Given the description of an element on the screen output the (x, y) to click on. 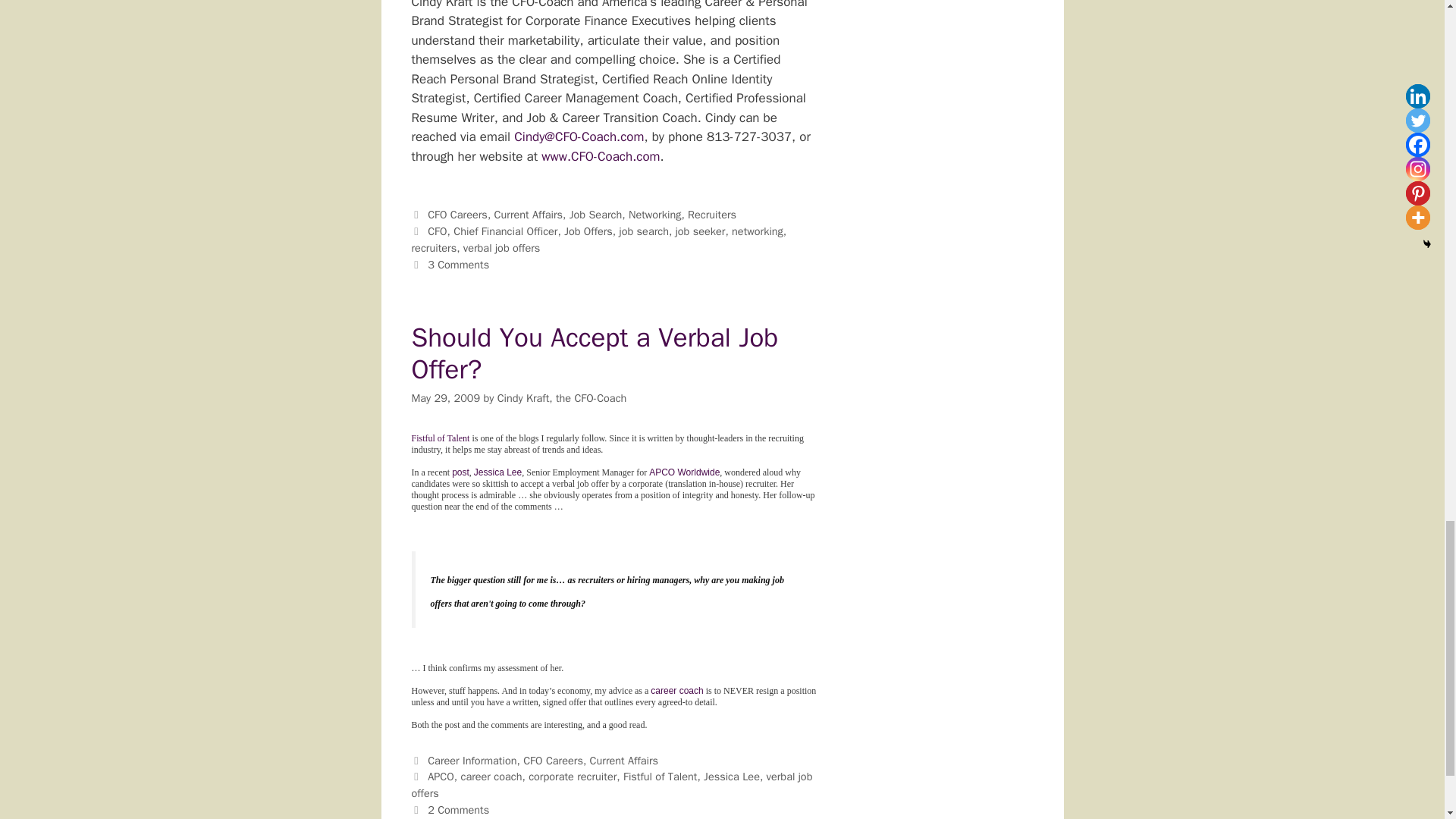
job search (644, 231)
job seeker (700, 231)
Current Affairs (529, 214)
www.CFO-Coach.com (600, 156)
3 Comments (458, 264)
CFO (437, 231)
Should You Accept a Verbal Job Offer? (593, 353)
recruiters (433, 247)
Job Search (595, 214)
View all posts by Cindy Kraft, the CFO-Coach (562, 397)
networking (757, 231)
Networking (654, 214)
verbal job offers (501, 247)
Fistful of Talent (439, 438)
Chief Financial Officer (504, 231)
